Given the description of an element on the screen output the (x, y) to click on. 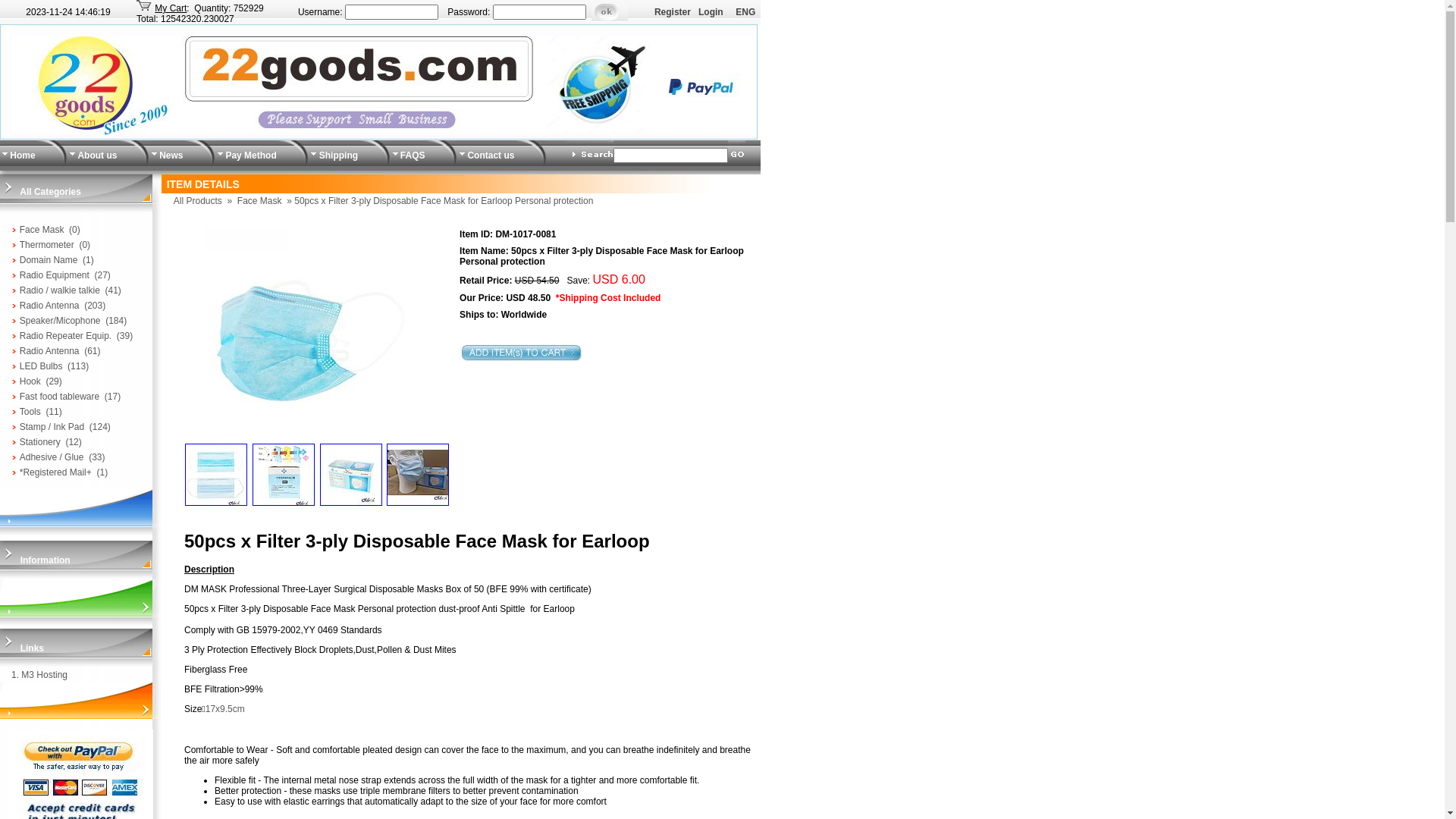
Face Mask Element type: text (41, 229)
M3 Hosting Element type: text (44, 674)
Hook Element type: text (29, 381)
LED Bulbs Element type: text (40, 365)
Radio Antenna Element type: text (49, 305)
Pay Method Element type: text (250, 155)
Tools Element type: text (29, 411)
All Categories Element type: text (50, 191)
Fast food tableware Element type: text (59, 396)
Stamp / Ink Pad Element type: text (51, 426)
Login Element type: text (710, 11)
Register Element type: text (672, 11)
FAQS Element type: text (412, 155)
Speaker/Micophone Element type: text (59, 320)
*Registered Mail+ Element type: text (55, 472)
Thermometer Element type: text (46, 244)
All Products Element type: text (197, 200)
Radio Repeater Equip. Element type: text (65, 335)
About us Element type: text (96, 155)
Shipping Element type: text (338, 155)
Radio / walkie talkie Element type: text (59, 290)
Stationery Element type: text (39, 441)
ENG Element type: text (745, 11)
Home Element type: text (21, 155)
Domain Name Element type: text (48, 259)
Contact us Element type: text (490, 155)
My Cart Element type: text (170, 8)
Face Mask Element type: text (259, 200)
News Element type: text (170, 155)
Adhesive / Glue Element type: text (51, 456)
Radio Antenna Element type: text (49, 350)
Radio Equipment Element type: text (54, 274)
